Given the description of an element on the screen output the (x, y) to click on. 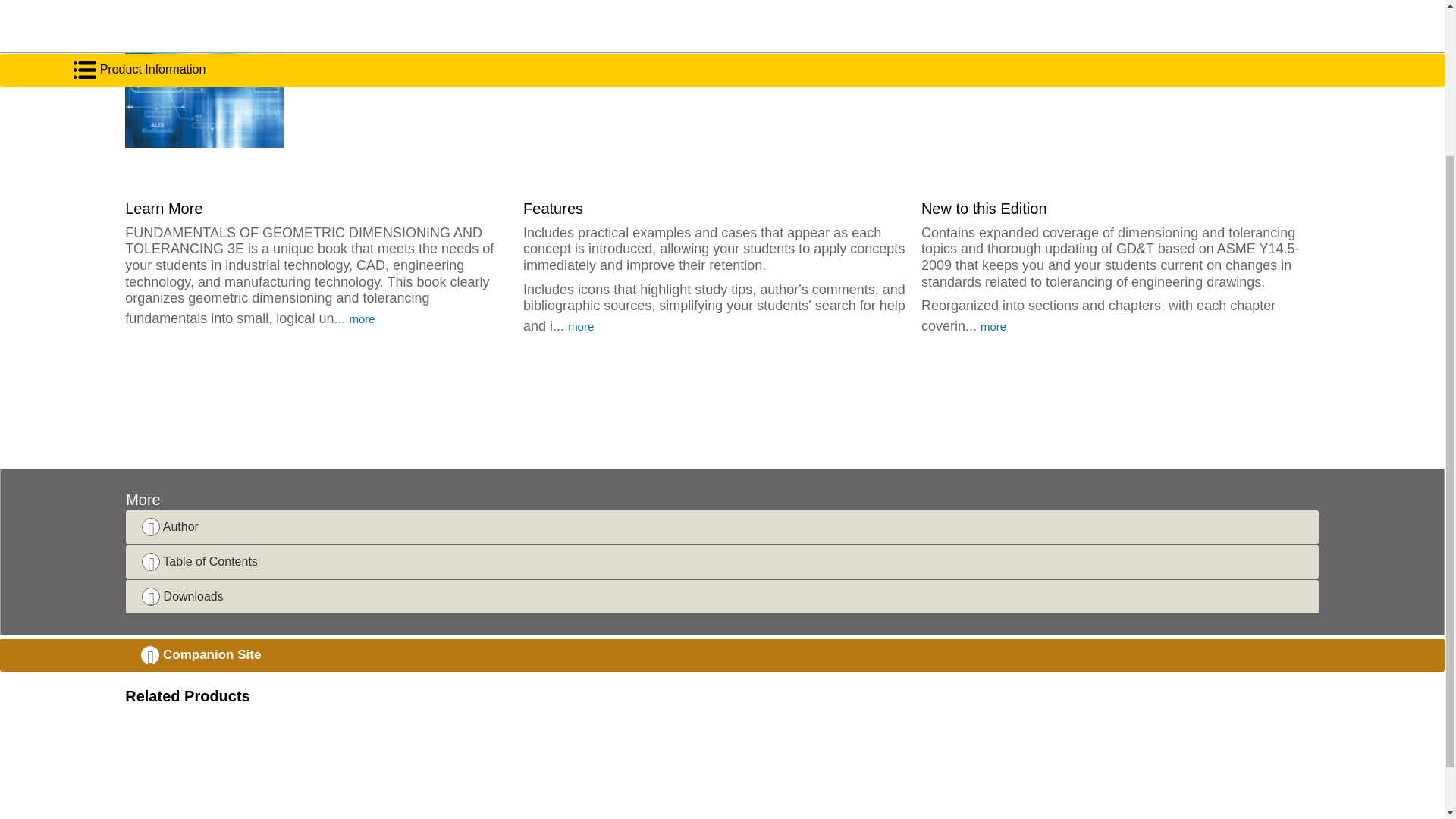
Downloads (722, 596)
Companion Site (722, 654)
Table of Contents (722, 561)
more (580, 326)
more (361, 318)
Author (722, 526)
more (992, 326)
